Given the description of an element on the screen output the (x, y) to click on. 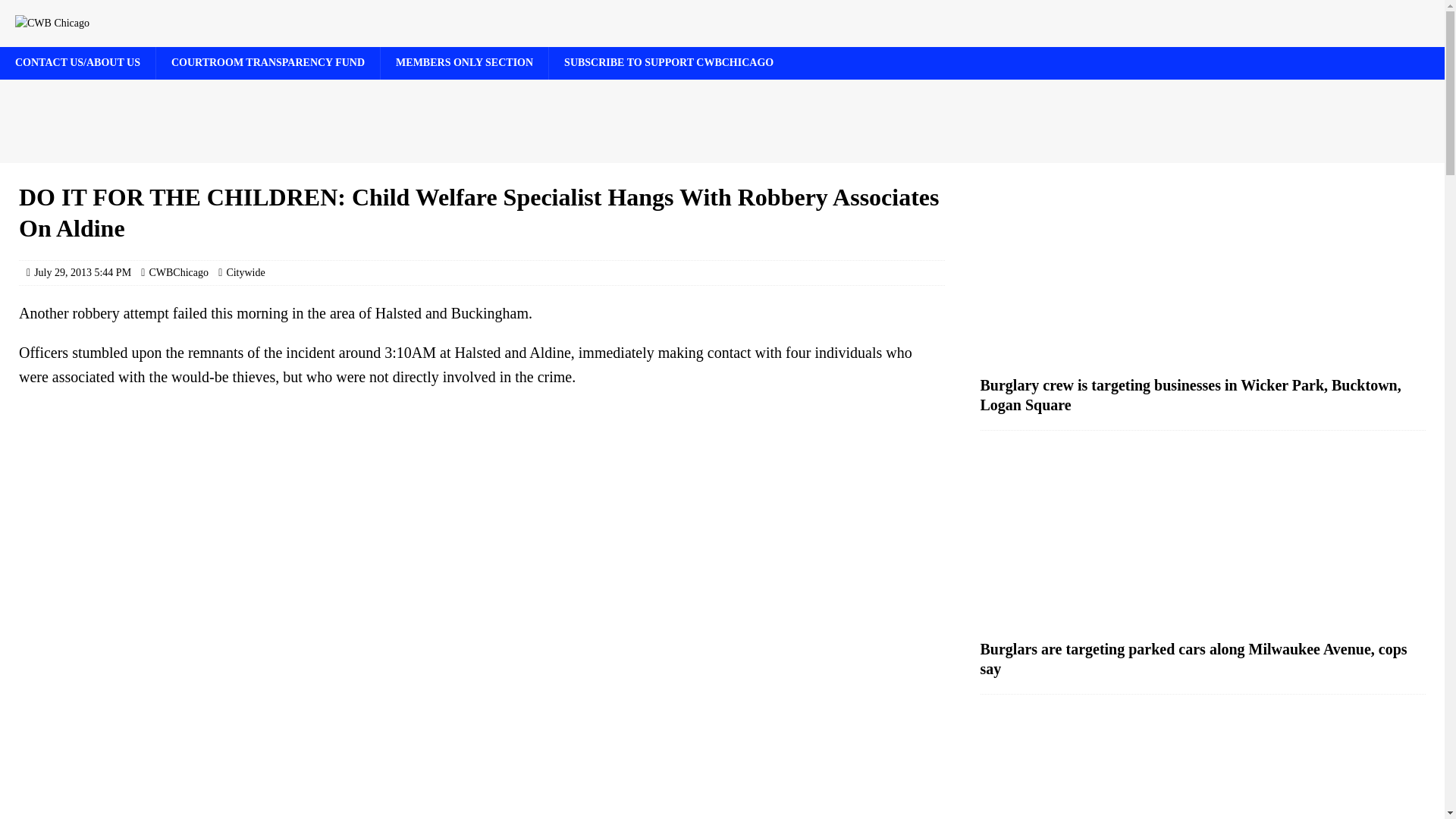
SUBSCRIBE TO SUPPORT CWBCHICAGO (668, 62)
CWBChicago (178, 272)
Citywide (244, 272)
COURTROOM TRANSPARENCY FUND (267, 62)
MEMBERS ONLY SECTION (464, 62)
July 29, 2013 5:44 PM (82, 272)
